Given the description of an element on the screen output the (x, y) to click on. 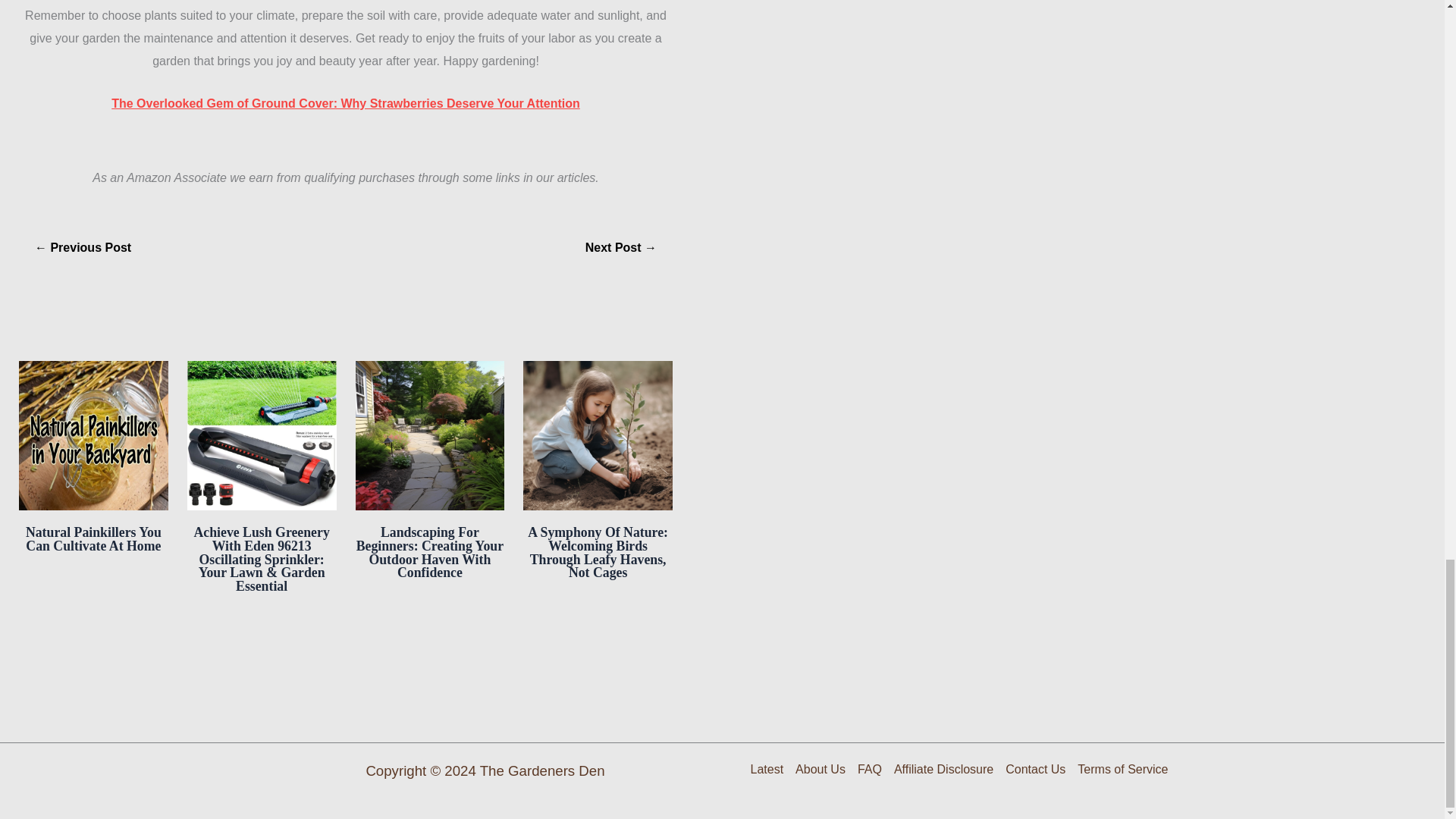
Natural Painkillers You Can Cultivate At Home (93, 538)
10 Unbelievably Easy Indoor Plants That Survive on Neglect (621, 247)
